Given the description of an element on the screen output the (x, y) to click on. 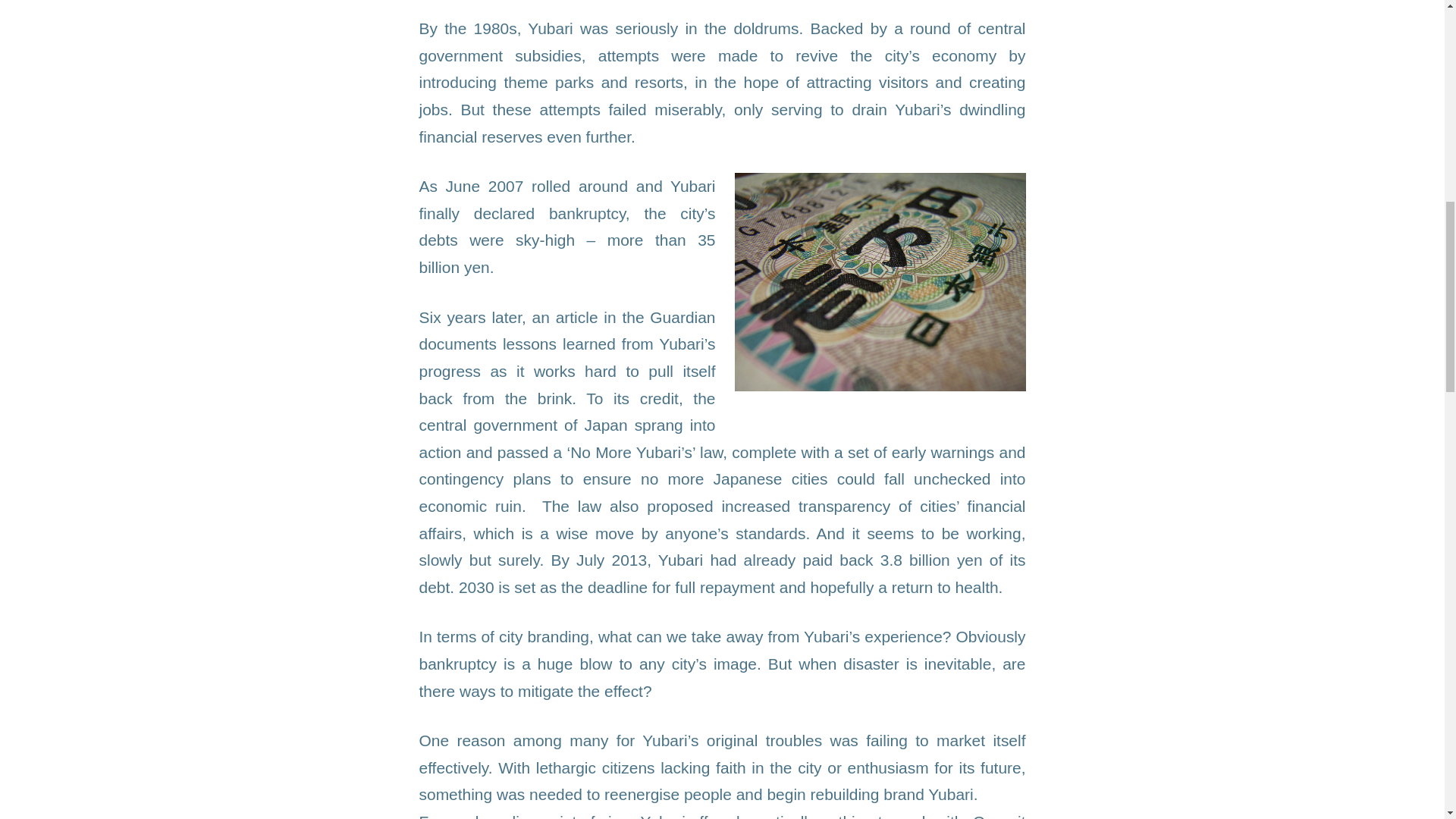
an article in the Guardian (624, 316)
